Given the description of an element on the screen output the (x, y) to click on. 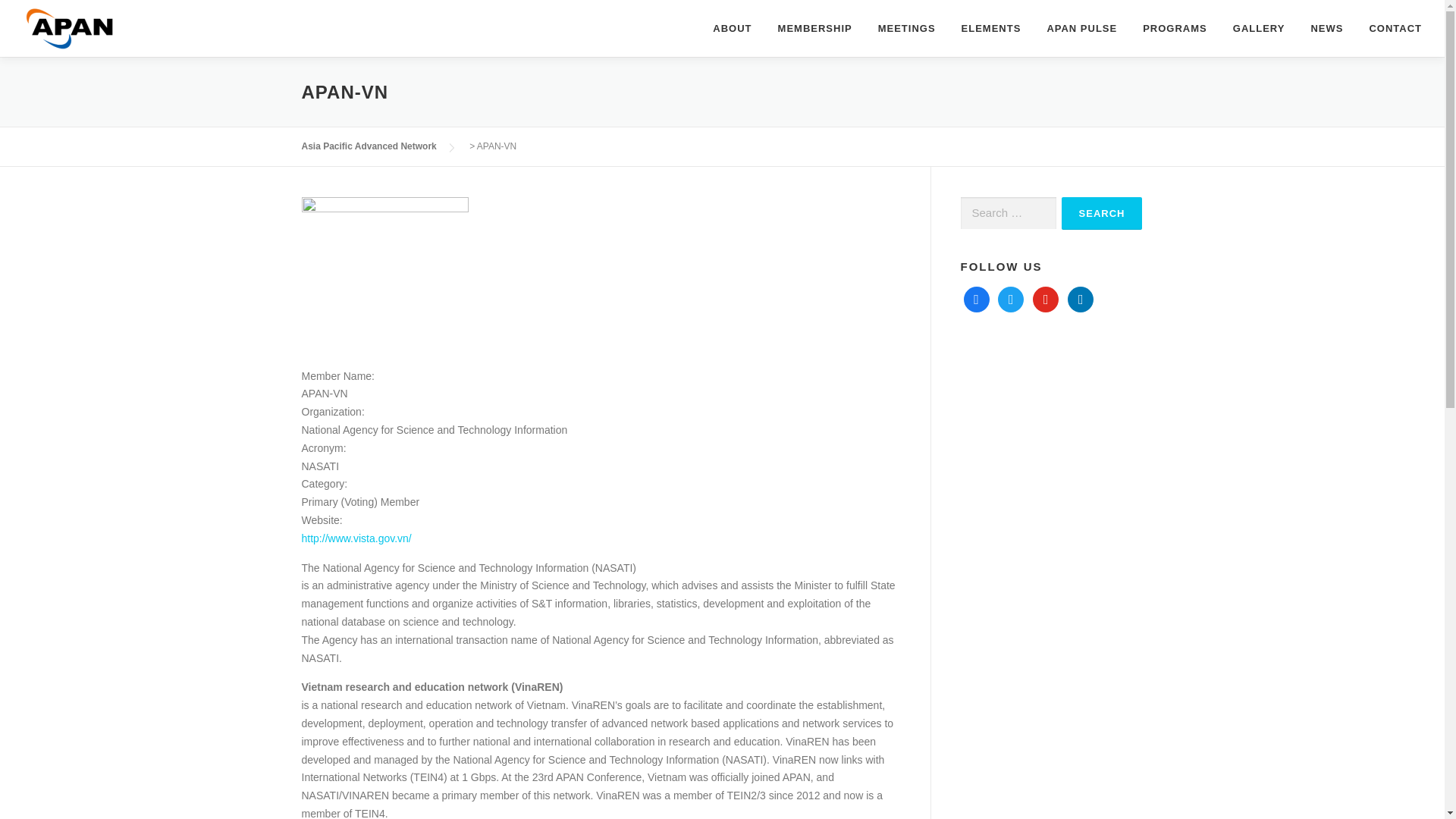
Search (1101, 213)
PROGRAMS (1174, 28)
ELEMENTS (991, 28)
Facebook (975, 297)
NEWS (1326, 28)
Default Label (1080, 297)
GALLERY (1259, 28)
Twitter (1010, 297)
Go to Asia Pacific Advanced Network. (368, 145)
ABOUT (732, 28)
MEMBERSHIP (814, 28)
APAN PULSE (1081, 28)
MEETINGS (906, 28)
Asia Pacific Advanced Network (368, 145)
Default Label (1045, 297)
